Given the description of an element on the screen output the (x, y) to click on. 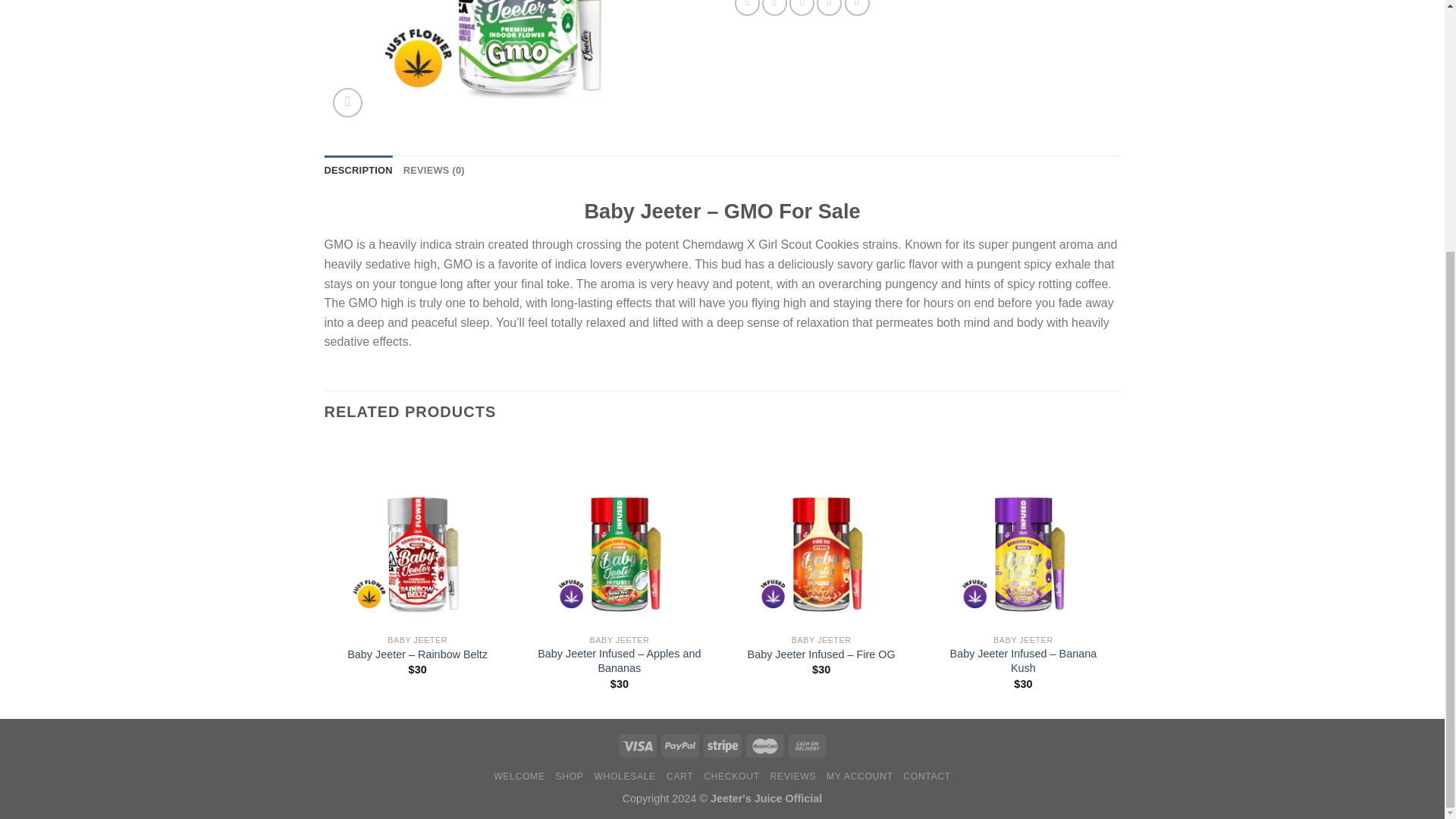
Baby Jeeter - GMO (517, 62)
